Given the description of an element on the screen output the (x, y) to click on. 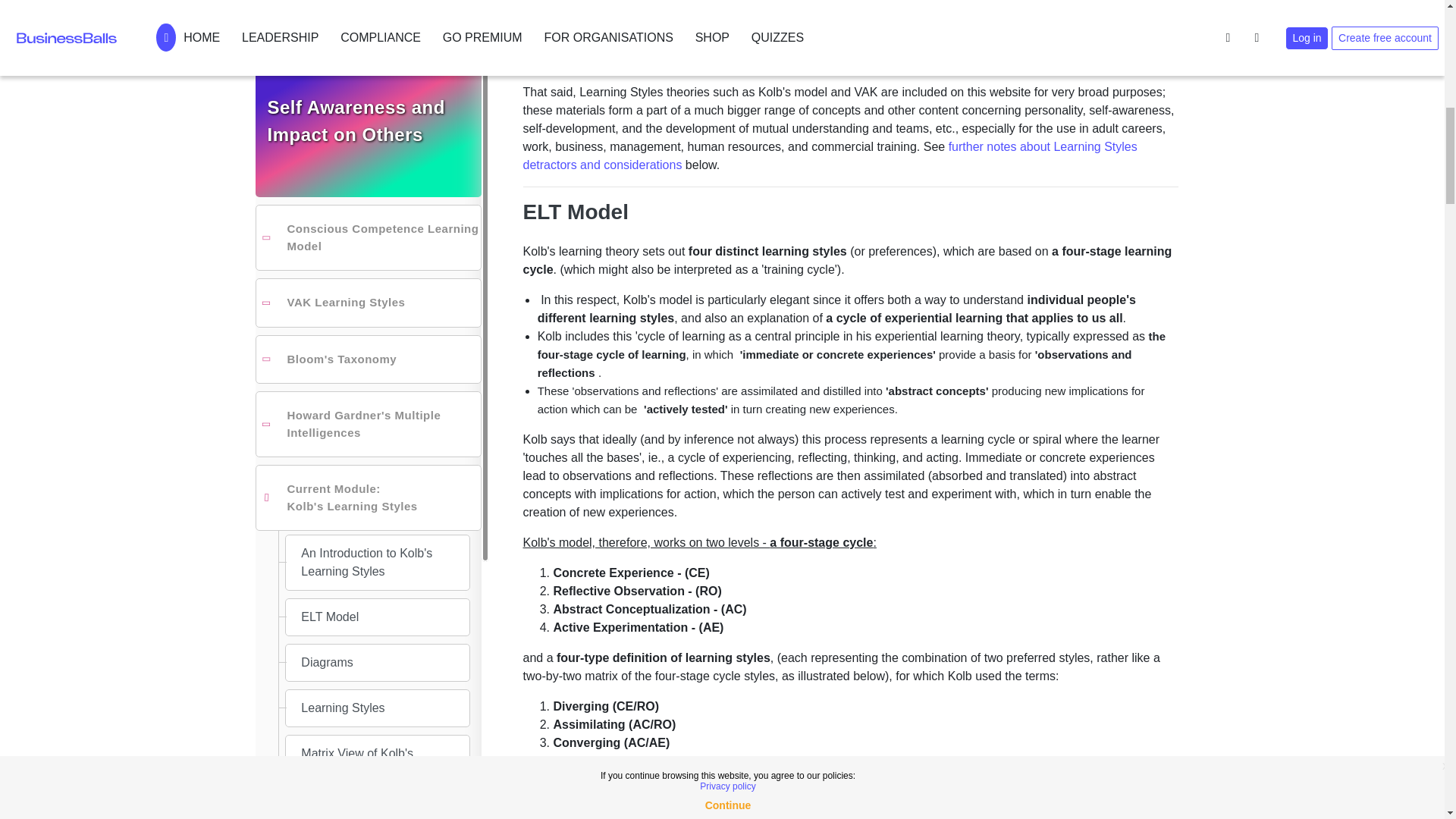
Honey and Mumford's Learning Styles (375, 401)
Diagrams (376, 55)
Matrix View of Kolb's Learning Styles (376, 156)
ELT Model (367, 16)
Definitions and Descriptions (376, 210)
Learning Styles (376, 101)
Diagrams (367, 55)
Learning Styles (367, 101)
Definitions and Descriptions (376, 210)
Diagrams (376, 55)
Learning Styles (376, 101)
Honey and Mumford's Learning Styles (367, 401)
Matrix View of Kolb's Learning Styles (367, 156)
Experiential Learning (340, 466)
ELT Model (376, 16)
